Given the description of an element on the screen output the (x, y) to click on. 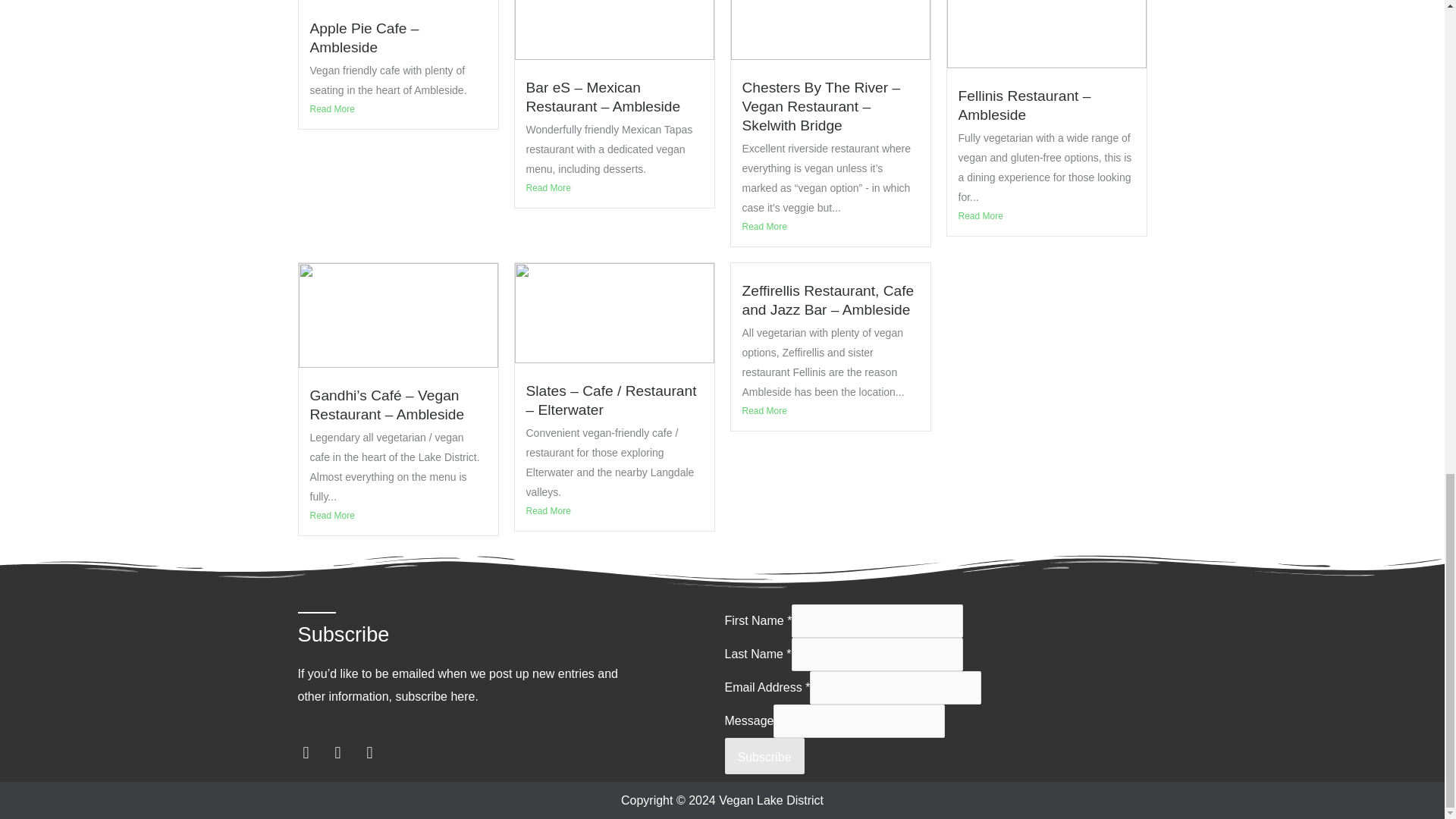
Read More (614, 510)
Read More (614, 187)
Read More (829, 226)
Read More (1046, 216)
Read More (397, 108)
Read More (397, 515)
Read More (829, 410)
